Given the description of an element on the screen output the (x, y) to click on. 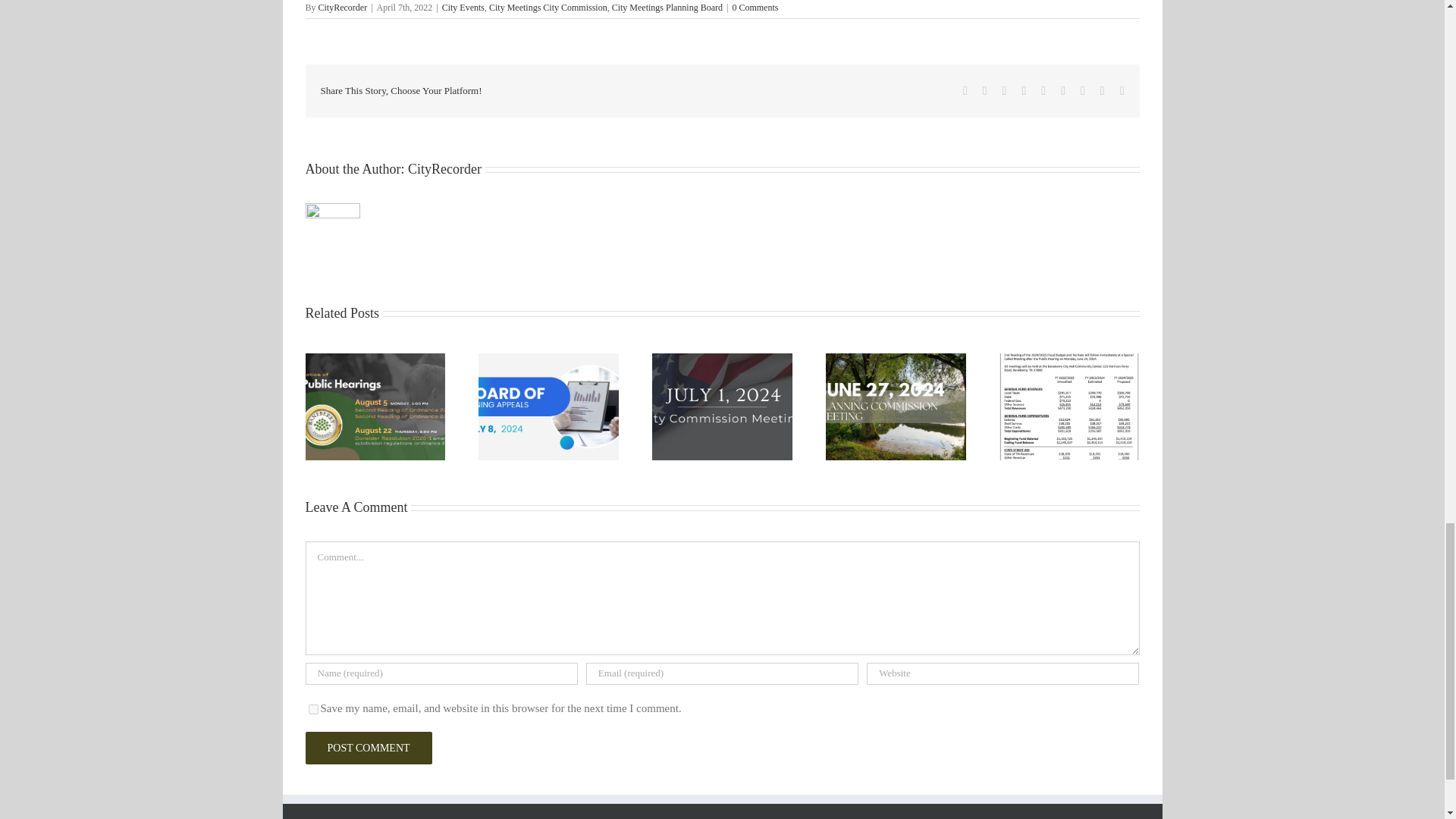
Posts by CityRecorder (444, 168)
Post Comment (367, 748)
Posts by CityRecorder (343, 7)
yes (312, 709)
